Given the description of an element on the screen output the (x, y) to click on. 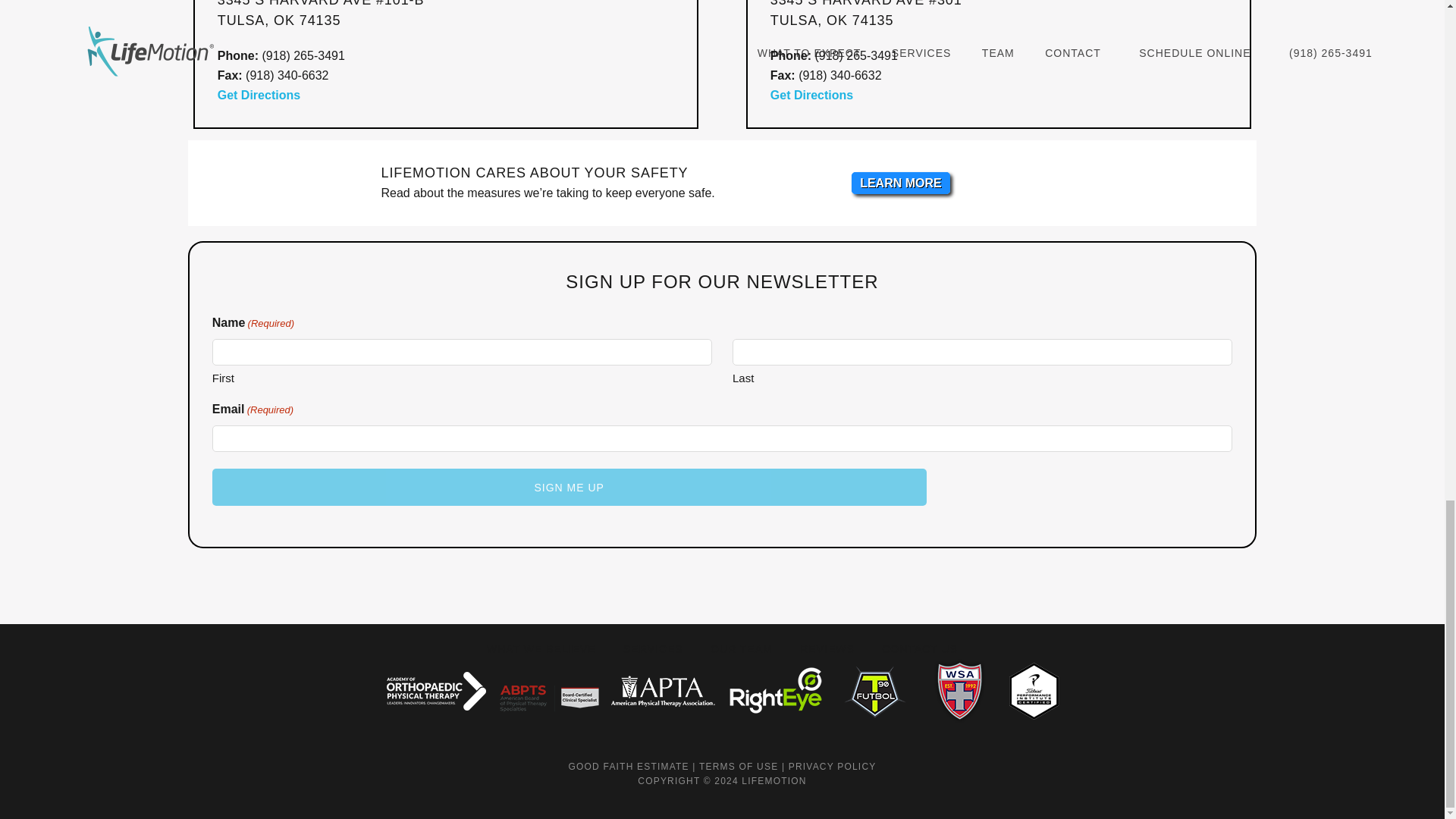
Get Directions (272, 104)
Sign Me Up (569, 487)
